Given the description of an element on the screen output the (x, y) to click on. 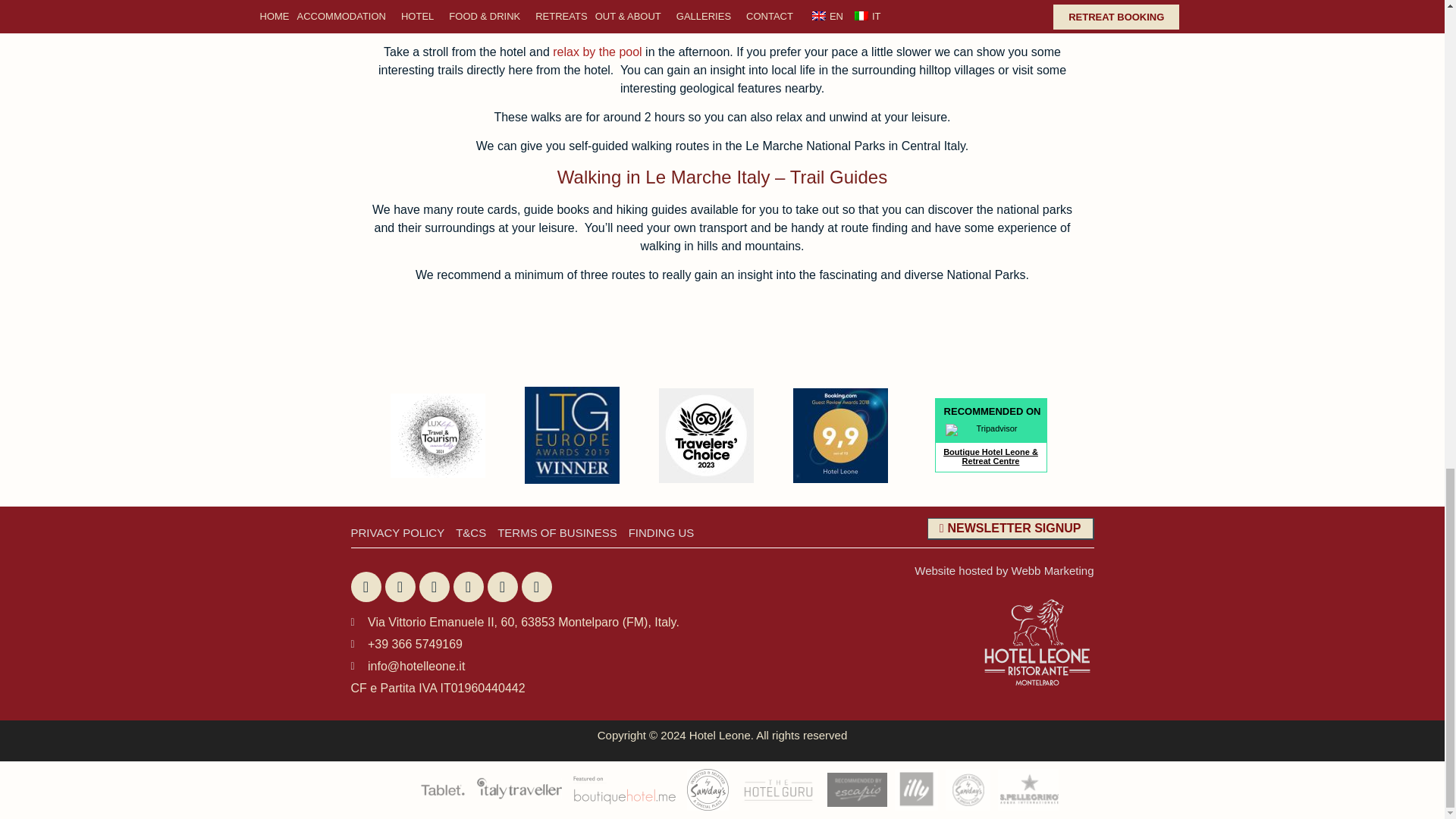
booking-com-award (840, 435)
Hotel Pool (597, 51)
footerlogo2 (519, 789)
Europe-LTG (572, 435)
